Given the description of an element on the screen output the (x, y) to click on. 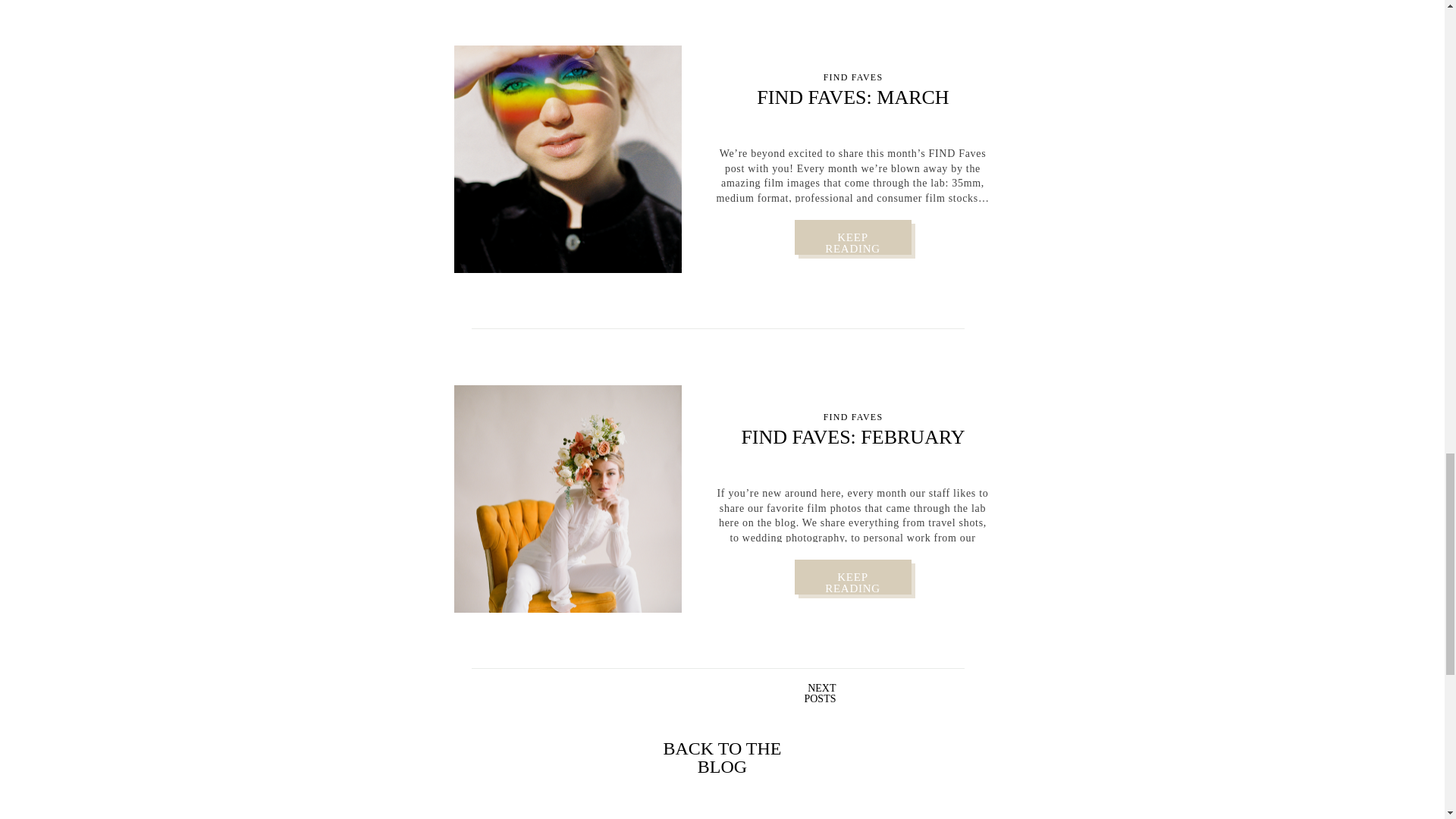
FIND Faves: March (852, 237)
FIND Faves: March (852, 237)
FIND Faves: March (566, 158)
FIND Faves: February (566, 498)
